Given the description of an element on the screen output the (x, y) to click on. 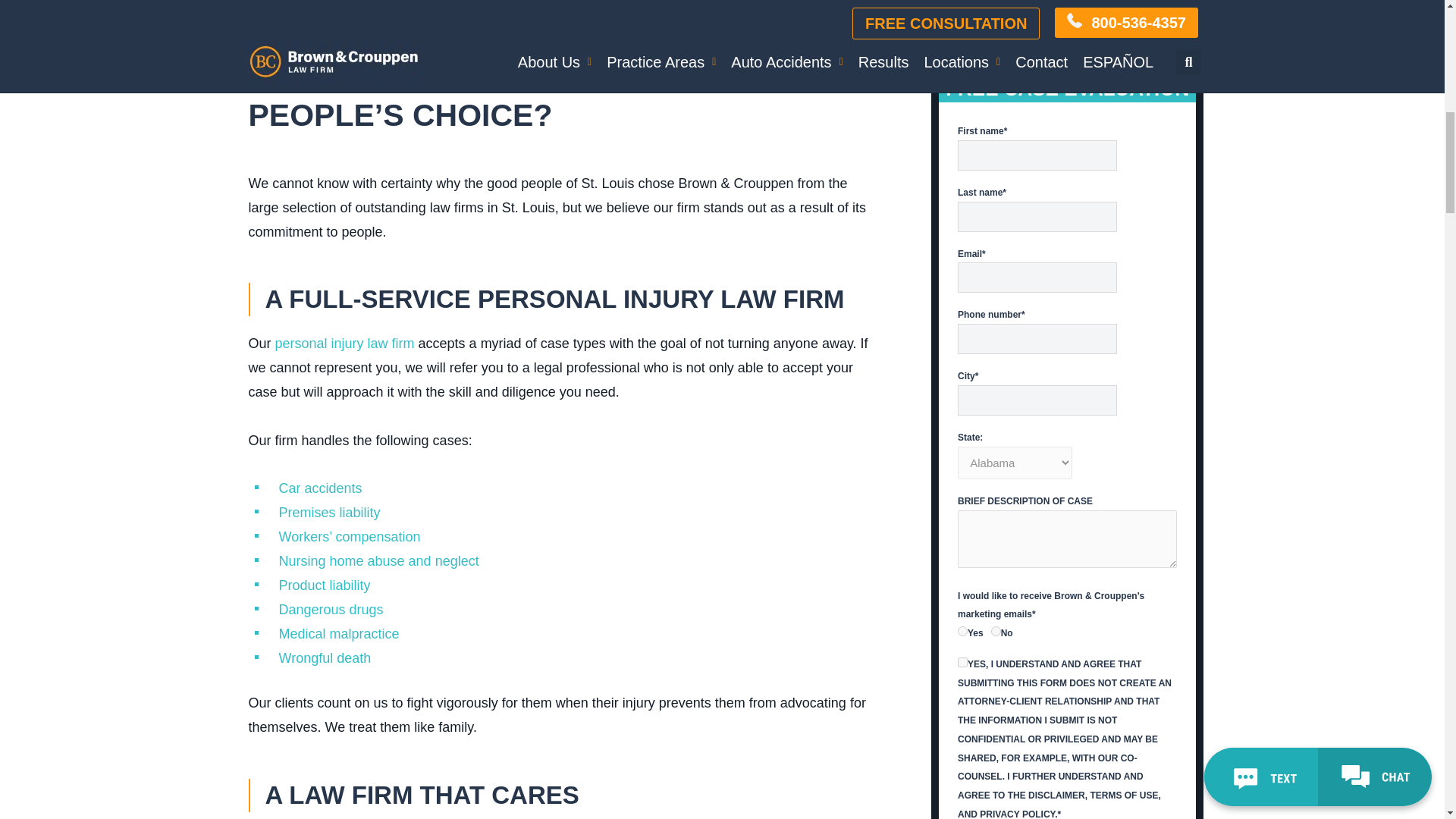
Yes (963, 631)
No (996, 631)
true (963, 662)
